Given the description of an element on the screen output the (x, y) to click on. 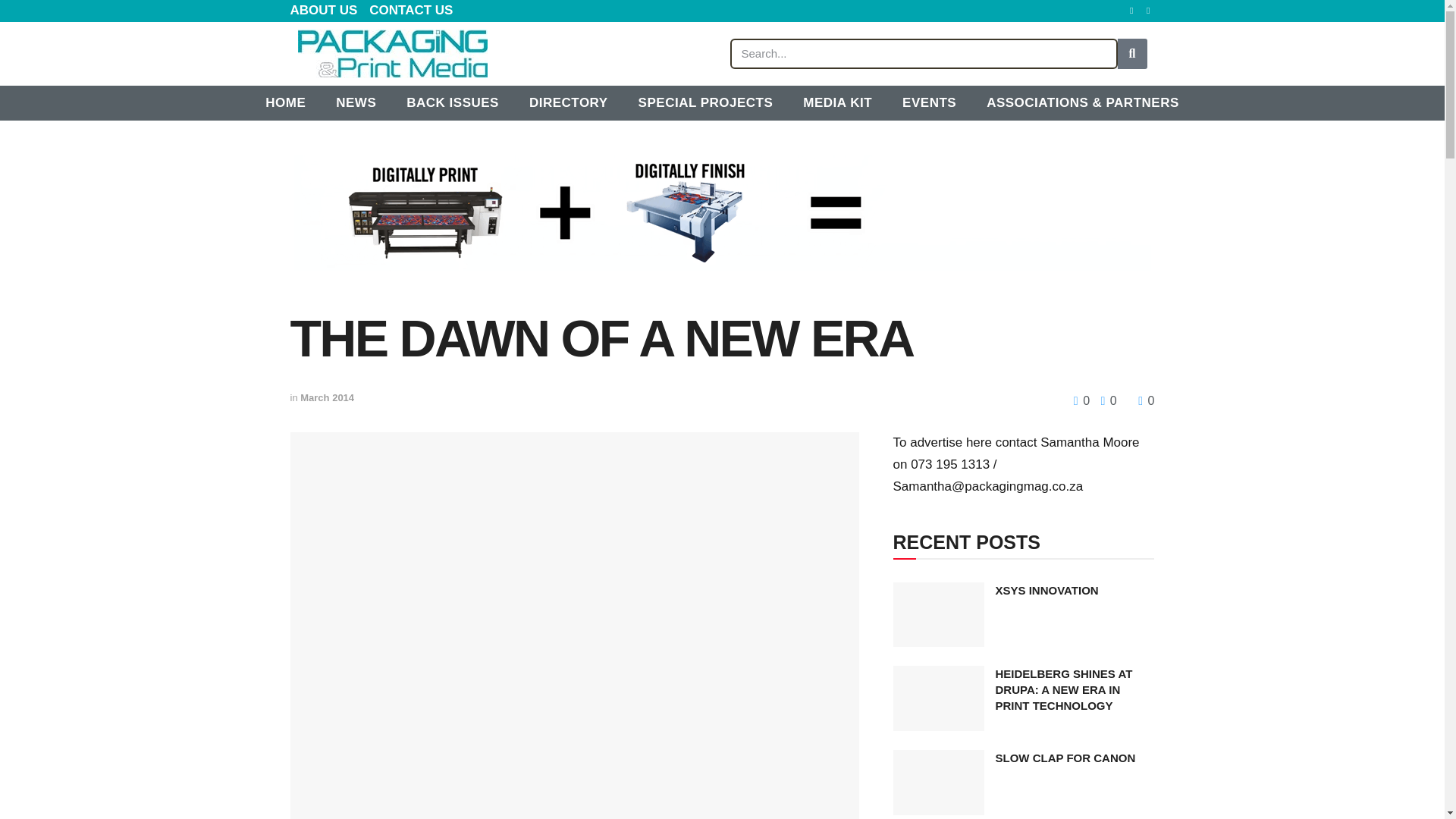
MEDIA KIT (836, 102)
NEWS (355, 102)
0 (1083, 400)
SPECIAL PROJECTS (706, 102)
March 2014 (326, 397)
CONTACT US (410, 11)
HOME (285, 102)
ABOUT US (322, 11)
0 (1104, 400)
DIRECTORY (568, 102)
